Given the description of an element on the screen output the (x, y) to click on. 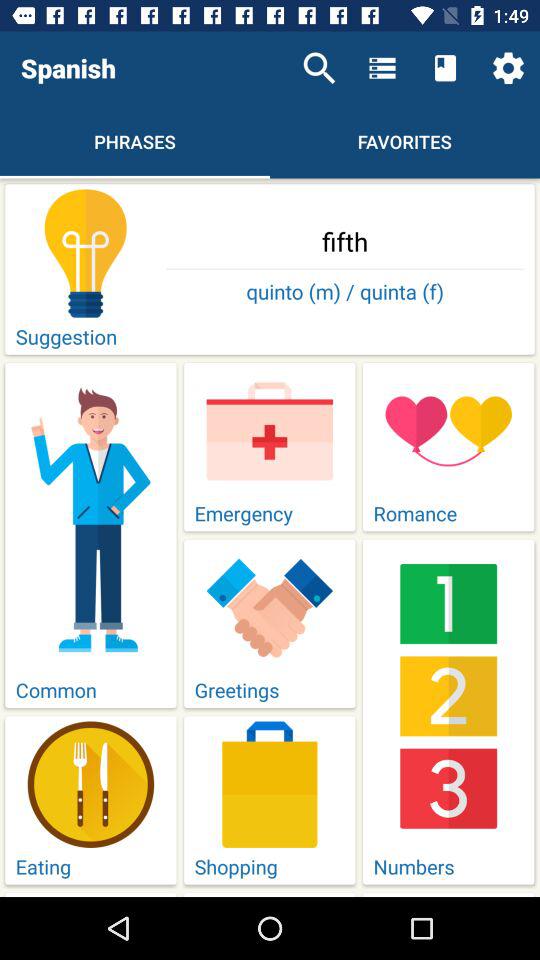
choose the item above favorites (444, 67)
